Given the description of an element on the screen output the (x, y) to click on. 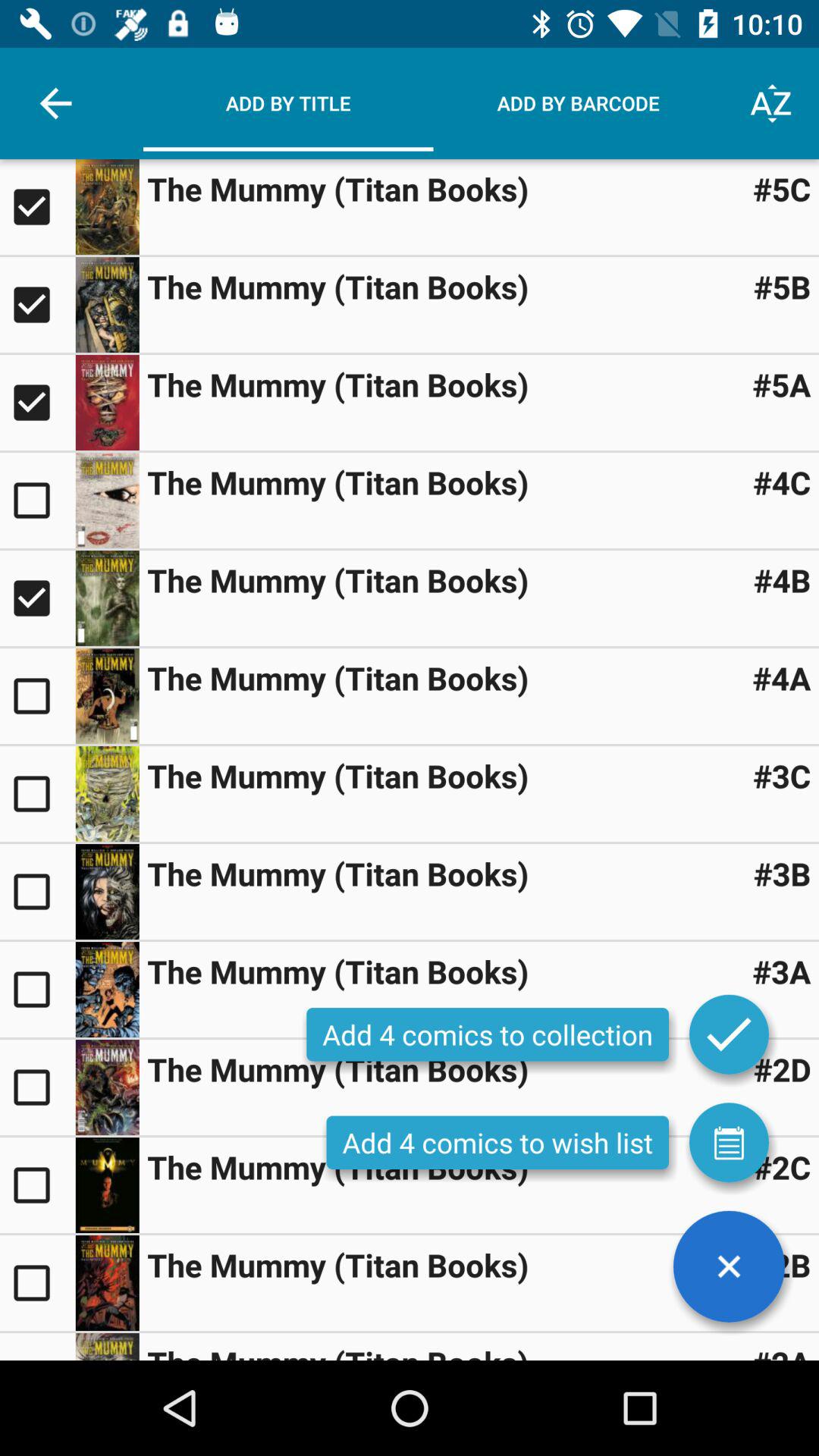
deselect selected content (37, 304)
